Given the description of an element on the screen output the (x, y) to click on. 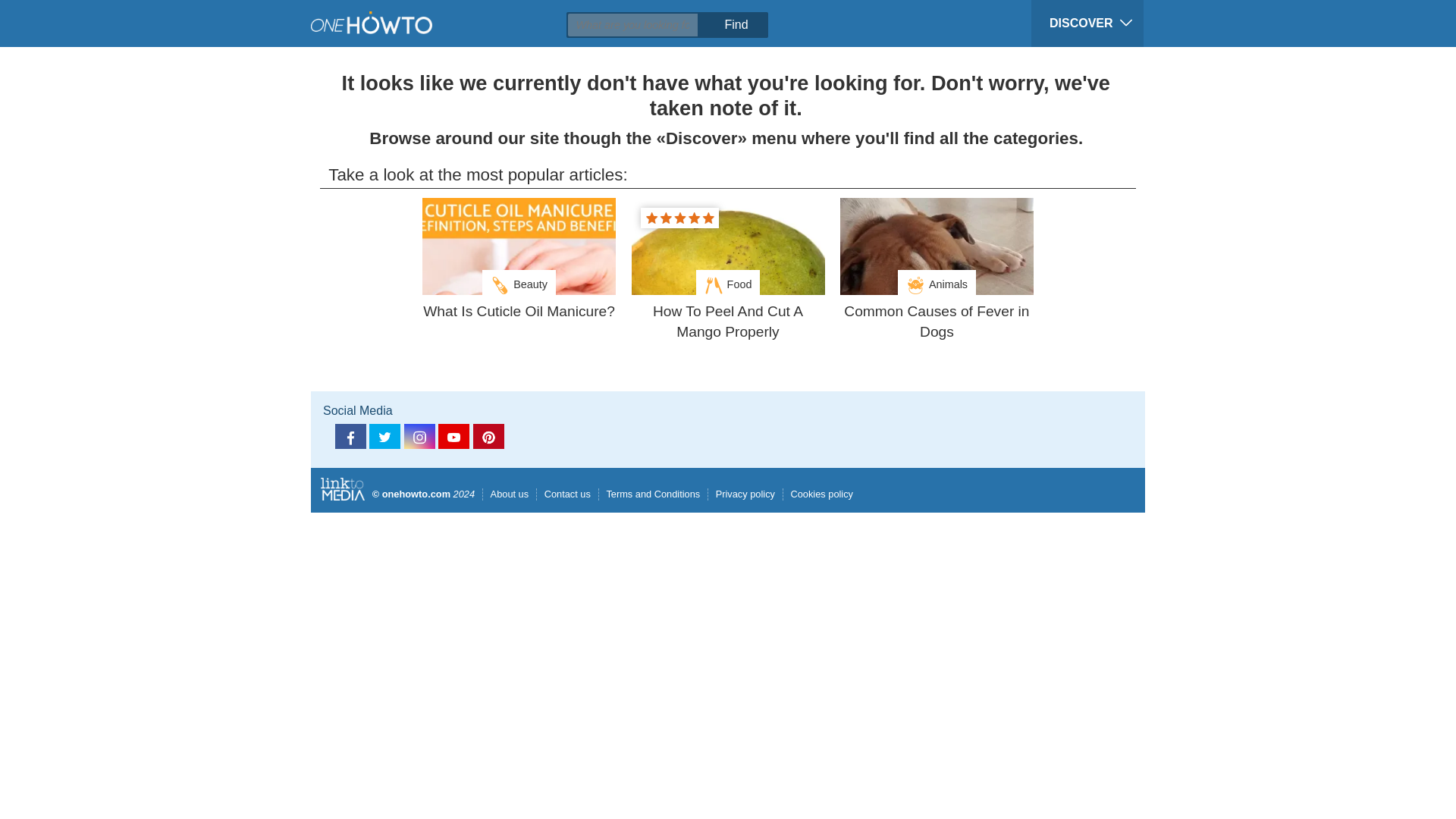
Terms and Conditions (649, 493)
Find (734, 24)
twitter (384, 436)
youtube (453, 436)
How To Peel And Cut A Mango Properly (727, 322)
Privacy policy (740, 493)
Contact us (563, 493)
pinterest (488, 436)
What Is Cuticle Oil Manicure? (518, 312)
About us (504, 493)
instagram (419, 436)
facebook (350, 436)
